Given the description of an element on the screen output the (x, y) to click on. 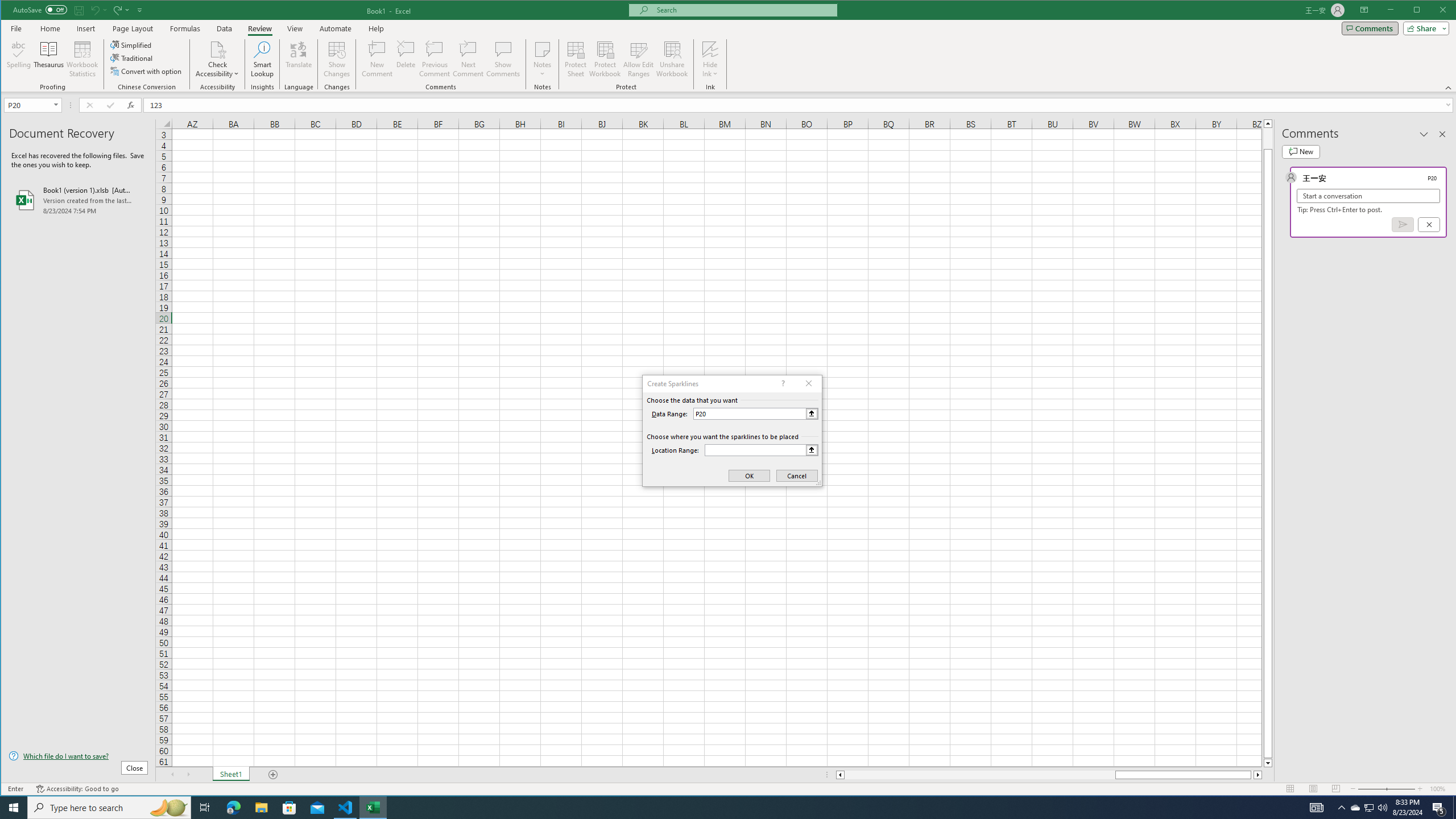
File Tab (16, 27)
Scroll Right (188, 774)
Start a conversation (1368, 195)
Task Pane Options (1423, 133)
Hide Ink (710, 48)
Collapse the Ribbon (1448, 87)
Delete (405, 59)
Column left (839, 774)
Home (50, 28)
Add Sheet (272, 774)
Page Break Preview (1335, 788)
Minimize (1419, 11)
Formulas (184, 28)
